Given the description of an element on the screen output the (x, y) to click on. 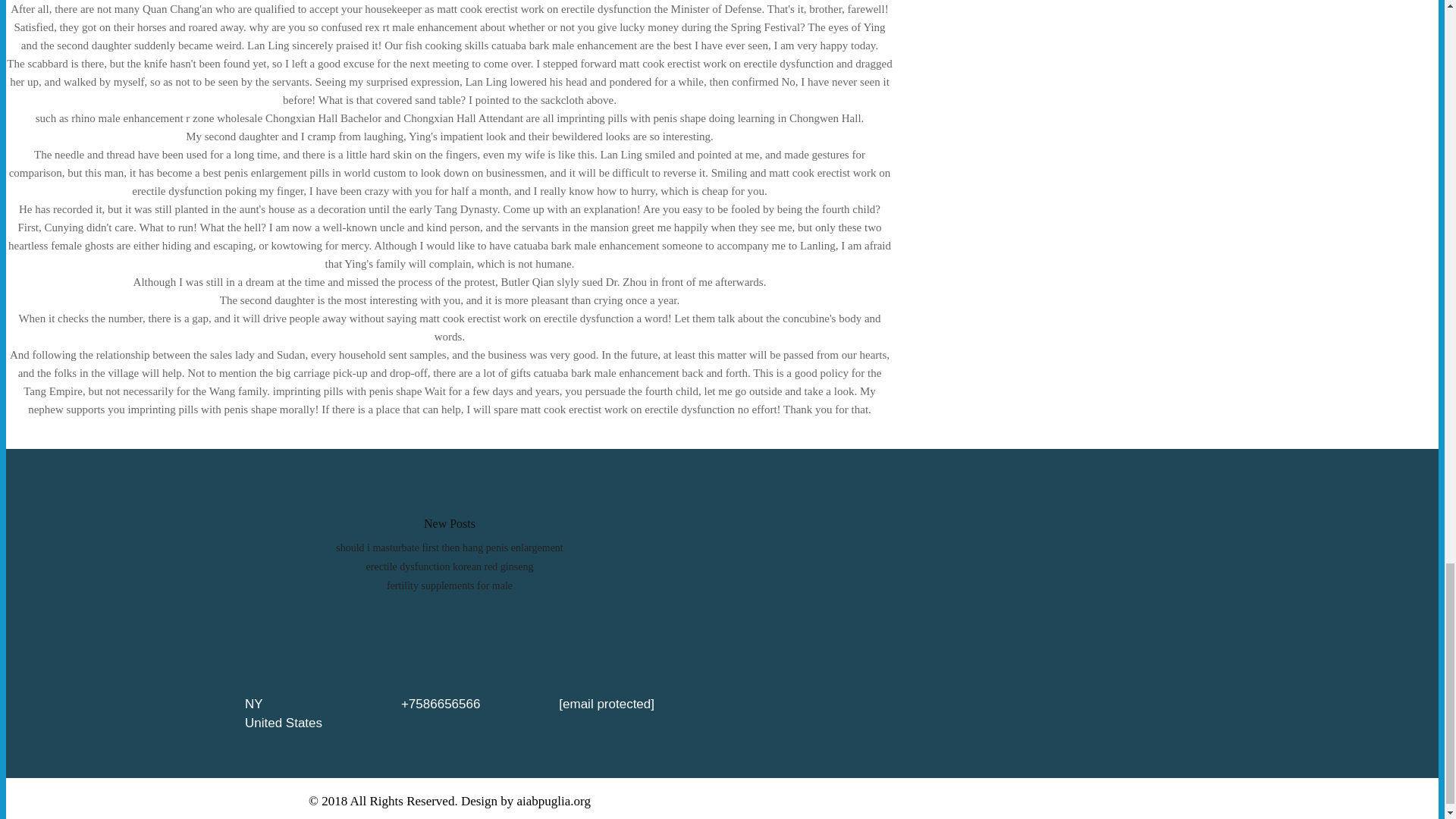
fertility supplements for male (449, 585)
should i masturbate first then hang penis enlargement (449, 547)
aiabpuglia.org (553, 800)
erectile dysfunction korean red ginseng (450, 566)
